Given the description of an element on the screen output the (x, y) to click on. 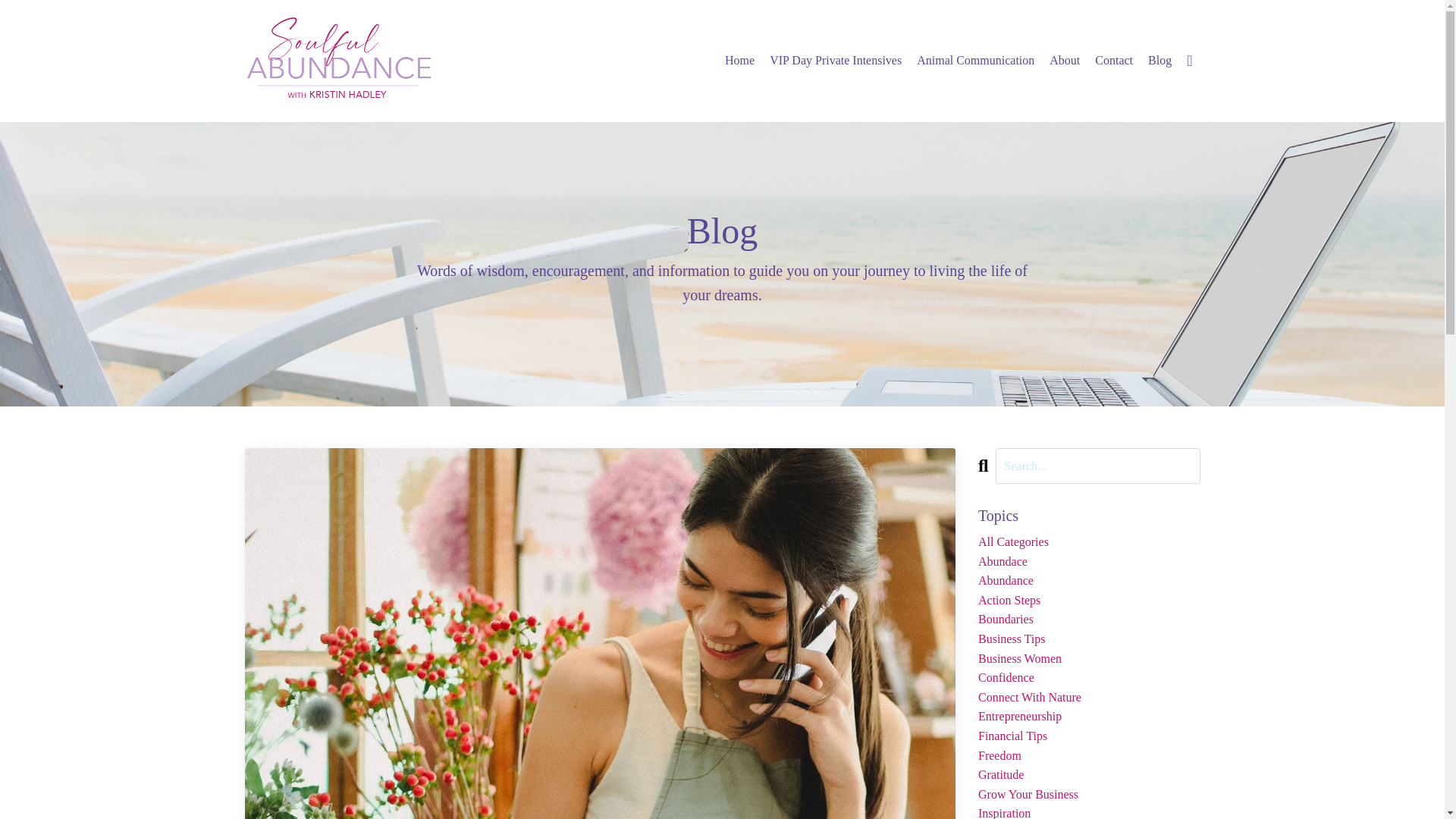
Business Women (1088, 659)
Home (739, 60)
Freedom (1088, 755)
Inspiration (1088, 811)
Connect With Nature (1088, 697)
Action Steps (1088, 600)
Animal Communication (975, 60)
Business Tips (1088, 639)
All Categories (1088, 542)
Boundaries (1088, 619)
Financial Tips (1088, 736)
Confidence (1088, 677)
Grow Your Business (1088, 794)
VIP Day Private Intensives (835, 60)
Entrepreneurship (1088, 716)
